Given the description of an element on the screen output the (x, y) to click on. 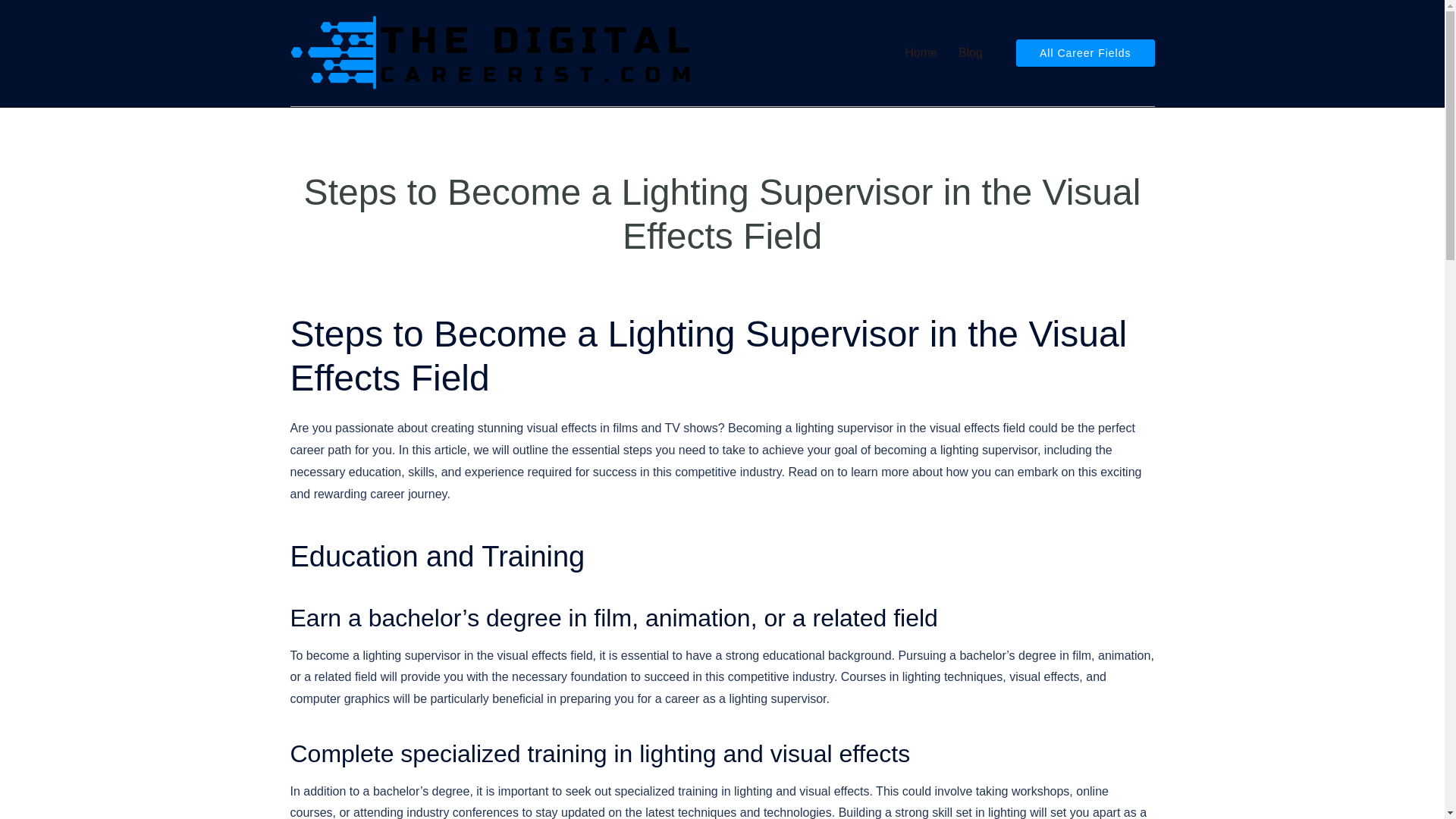
All Career Fields (1085, 52)
TheDigitalCareerist.com (490, 51)
Home (920, 53)
Blog (970, 53)
